Given the description of an element on the screen output the (x, y) to click on. 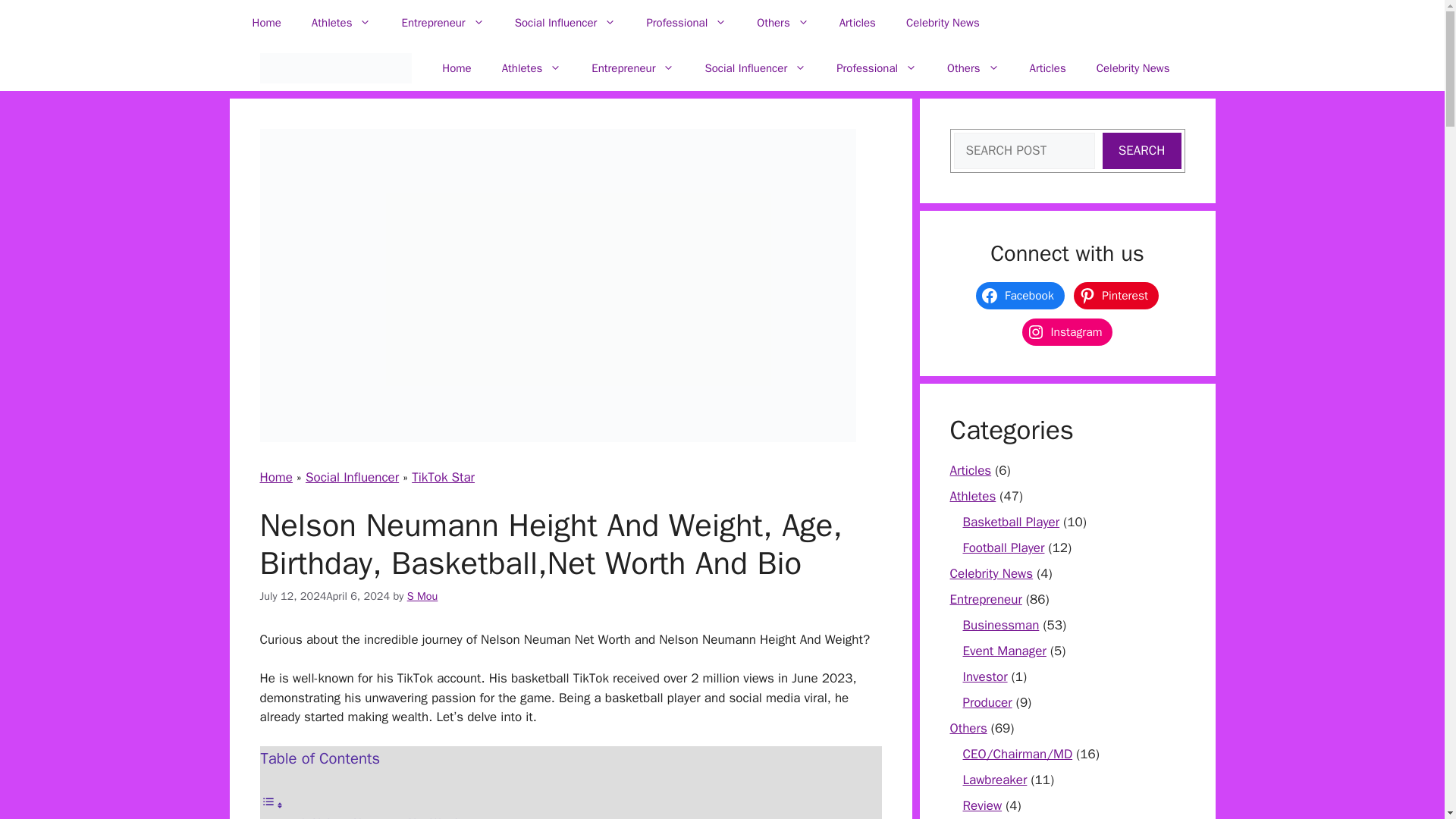
View all posts by S Mou (422, 595)
Entrepreneur (632, 67)
Others (782, 22)
Entrepreneur (442, 22)
Social Influencer (565, 22)
Celebrity News (942, 22)
Home (456, 67)
Home (265, 22)
Athletes (342, 22)
Professional (685, 22)
Athletes (531, 67)
Articles (857, 22)
Celebrity Net Worth And Bio (334, 67)
Nelson Neumann Net Worth (387, 816)
